Given the description of an element on the screen output the (x, y) to click on. 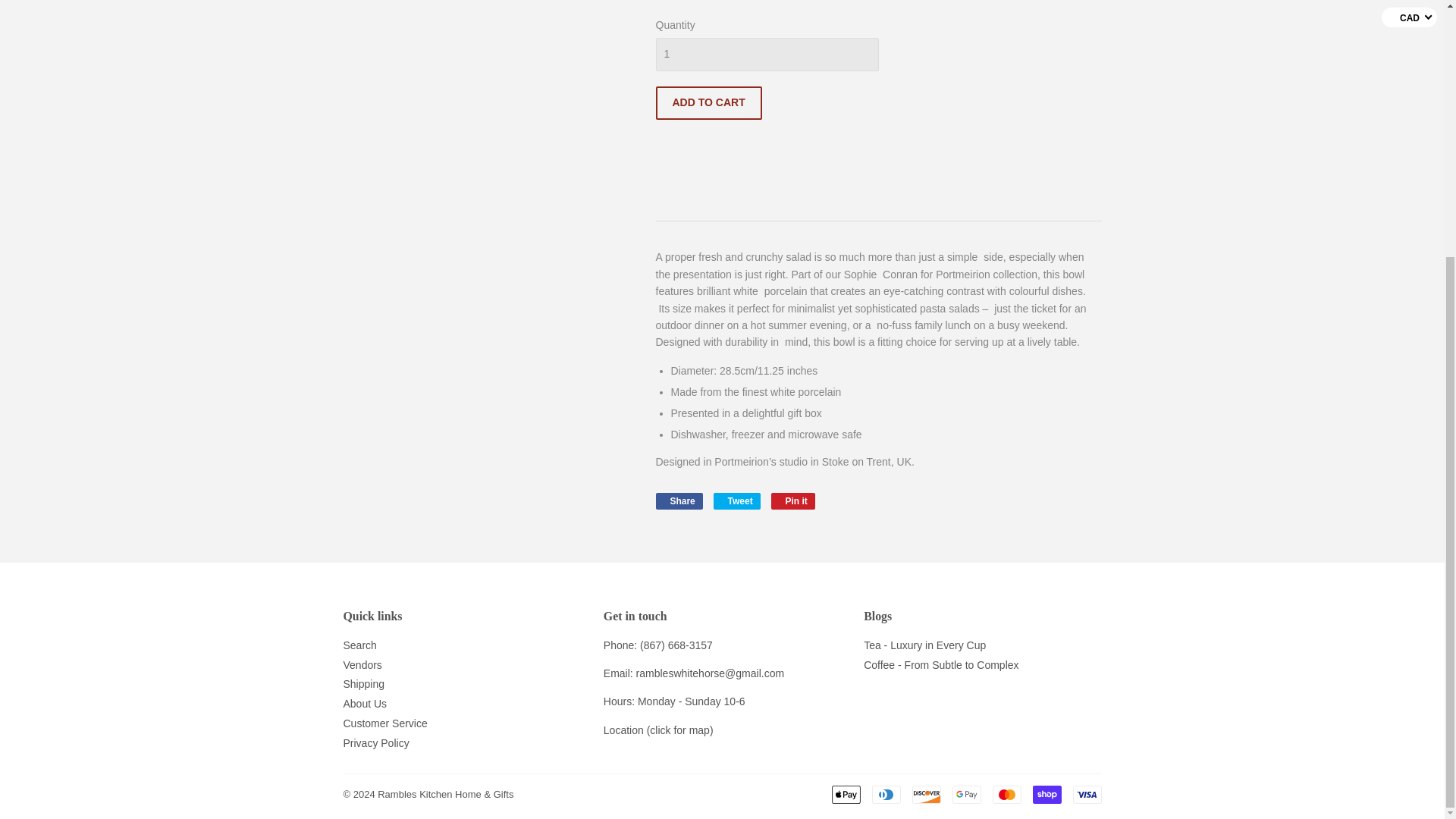
Google Pay (966, 794)
Diners Club (886, 794)
Pin on Pinterest (793, 501)
Shop Pay (1046, 794)
Discover (925, 794)
Location (623, 729)
Apple Pay (845, 794)
Visa (1085, 794)
Share on Facebook (678, 501)
Mastercard (1005, 794)
